Given the description of an element on the screen output the (x, y) to click on. 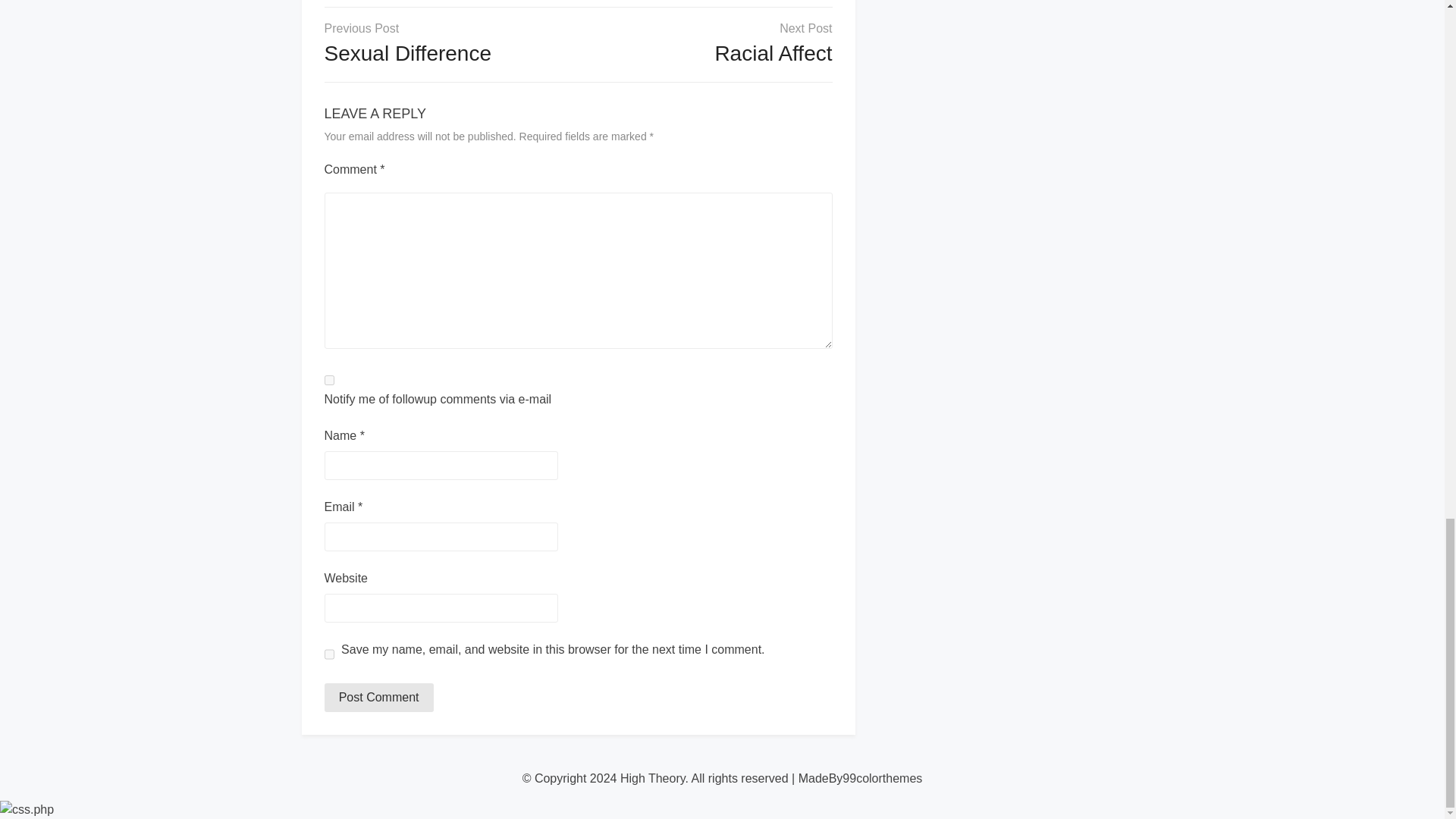
Post Comment (378, 697)
subscribe (329, 379)
Post Comment (378, 697)
Racial Affect (772, 53)
Sexual Difference (408, 53)
